Given the description of an element on the screen output the (x, y) to click on. 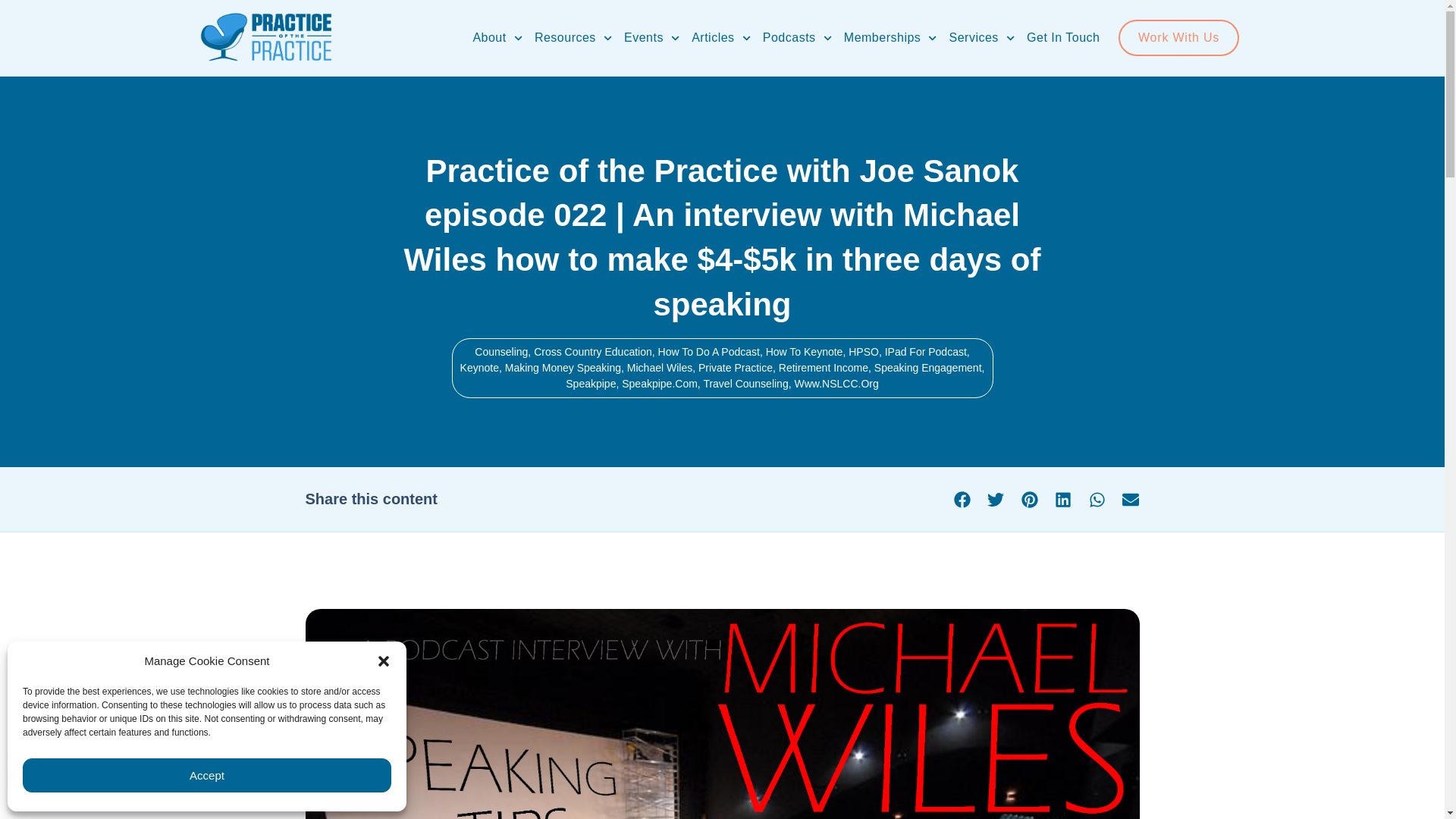
Podcasts (796, 37)
Resources (572, 37)
About (497, 37)
Events (652, 37)
Articles (721, 37)
Accept (207, 775)
